Given the description of an element on the screen output the (x, y) to click on. 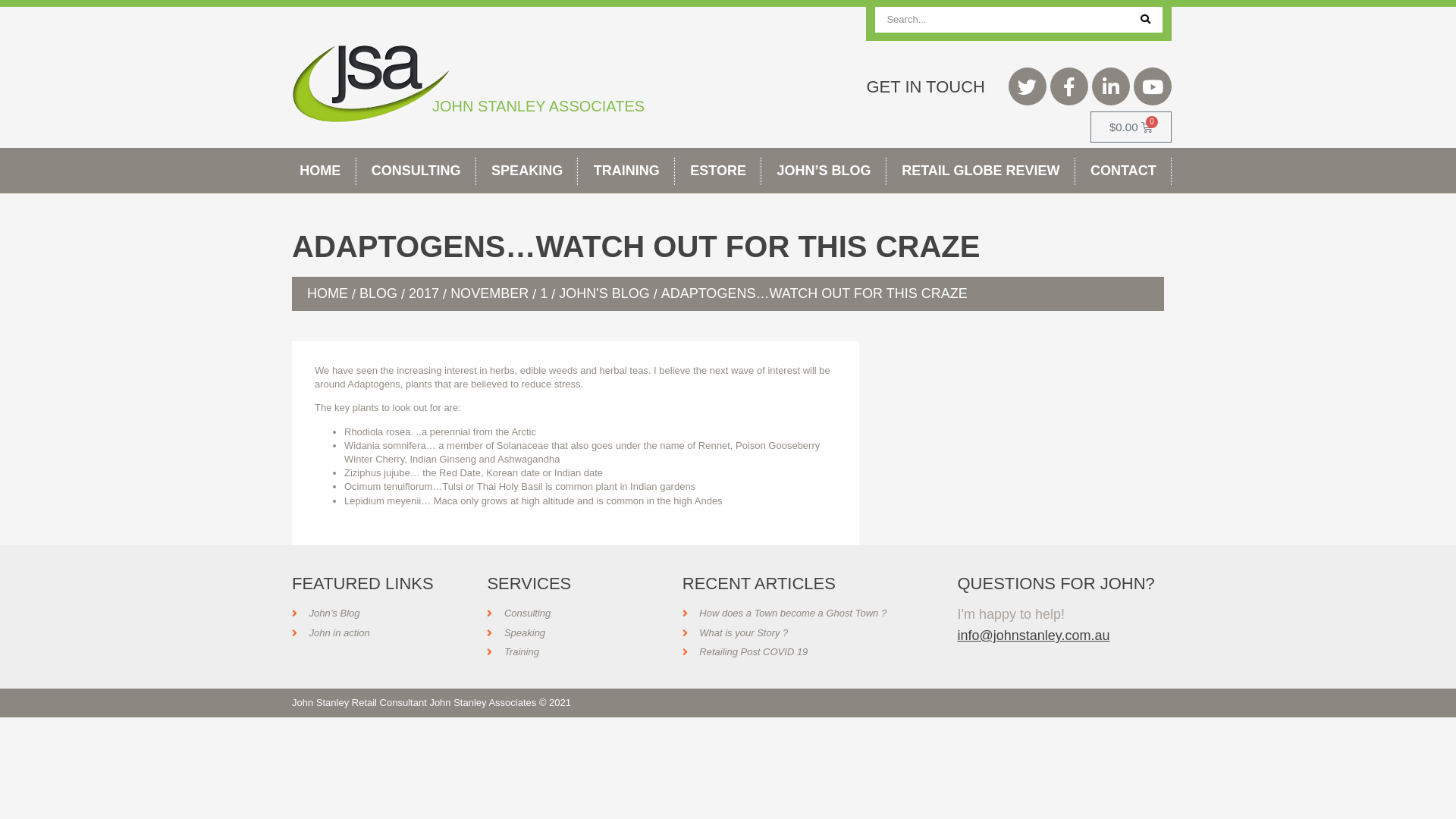
Search Element type: text (1145, 19)
Speaking Element type: text (515, 633)
BLOG Element type: text (378, 293)
CONSULTING Element type: text (416, 170)
RETAIL GLOBE REVIEW Element type: text (980, 170)
info@johnstanley.com.au Element type: text (1033, 635)
HOME Element type: text (327, 293)
1 Element type: text (543, 293)
What is your Story ? Element type: text (735, 633)
2017 Element type: text (423, 293)
How does a Town become a Ghost Town ? Element type: text (784, 613)
Linkedin-in Element type: text (1110, 86)
Twitter Element type: text (1027, 86)
CONTACT Element type: text (1123, 170)
SPEAKING Element type: text (527, 170)
Consulting Element type: text (518, 613)
NOVEMBER Element type: text (489, 293)
John in action Element type: text (330, 633)
Youtube Element type: text (1152, 86)
JOHN'S BLOG Element type: text (603, 293)
Training Element type: text (512, 652)
TRAINING Element type: text (625, 170)
$0.00
0
Cart Element type: text (1130, 126)
HOME Element type: text (320, 170)
Facebook-f Element type: text (1069, 86)
ESTORE Element type: text (717, 170)
Retailing Post COVID 19 Element type: text (745, 652)
